Given the description of an element on the screen output the (x, y) to click on. 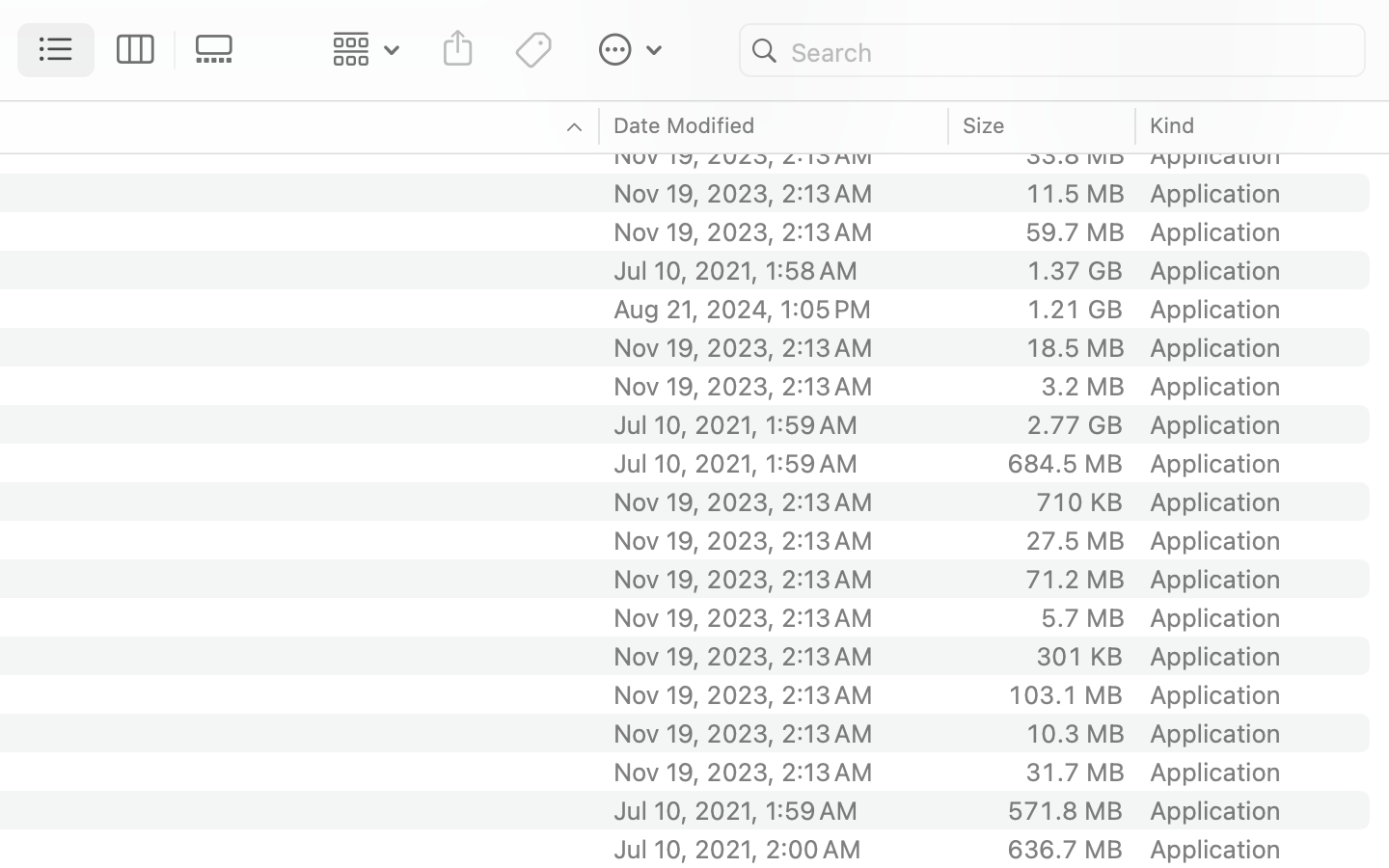
0 Element type: AXRadioButton (219, 49)
1.37 GB Element type: AXStaticText (1074, 269)
710 KB Element type: AXStaticText (1079, 501)
33.8 MB Element type: AXStaticText (1074, 153)
636.7 MB Element type: AXStaticText (1064, 848)
